Given the description of an element on the screen output the (x, y) to click on. 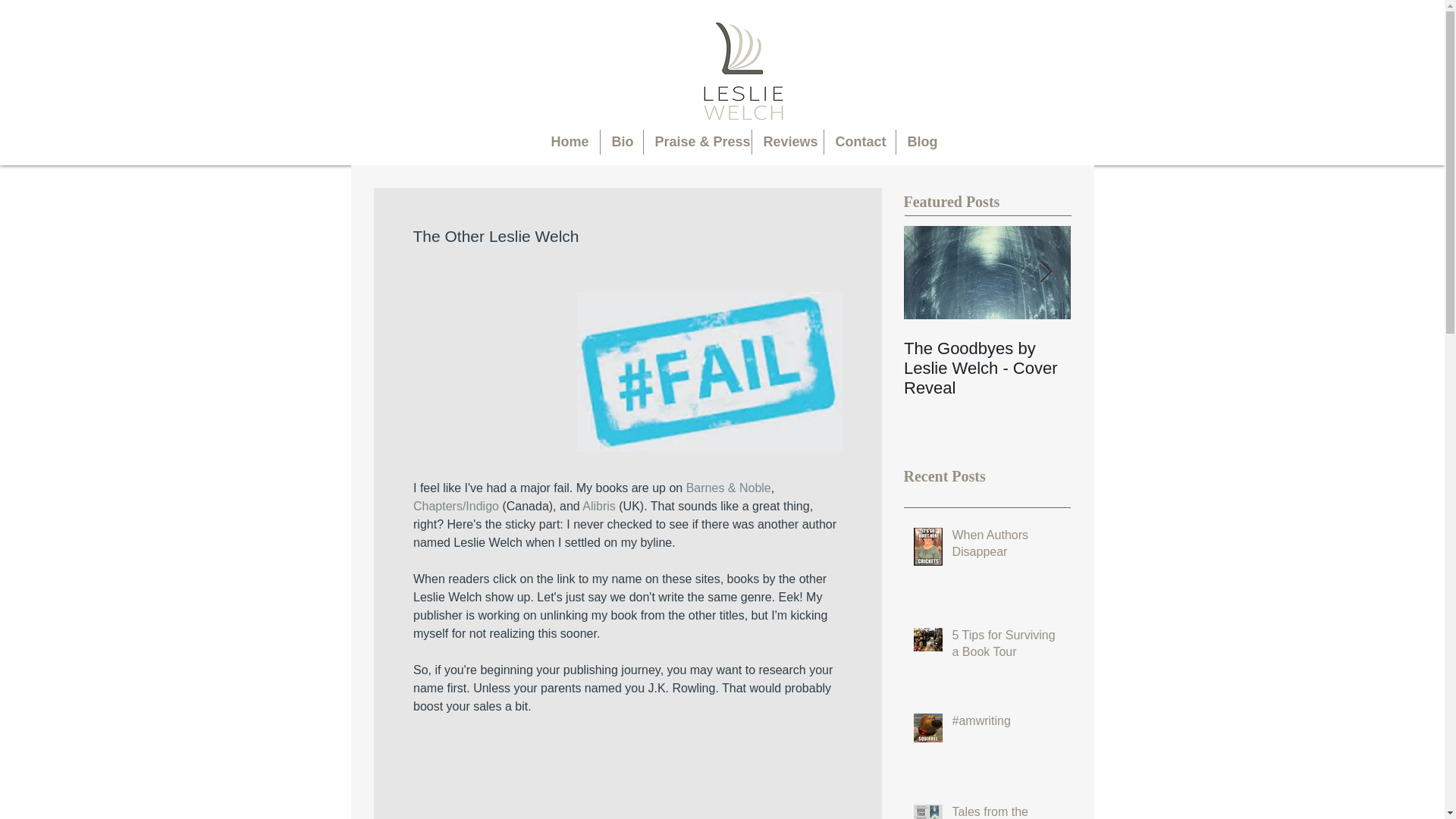
Contact (859, 141)
Bio (621, 141)
5 Tips for Surviving a Book Tour (1006, 647)
Saying Goodbye to a Manuscript (1153, 358)
Blog (921, 141)
Tales from the Road, Part 2 (1006, 811)
The Goodbyes by Leslie Welch - Cover Reveal (987, 368)
When Authors Disappear (1006, 547)
Home (569, 141)
Alibris (598, 505)
Reviews (788, 141)
